Given the description of an element on the screen output the (x, y) to click on. 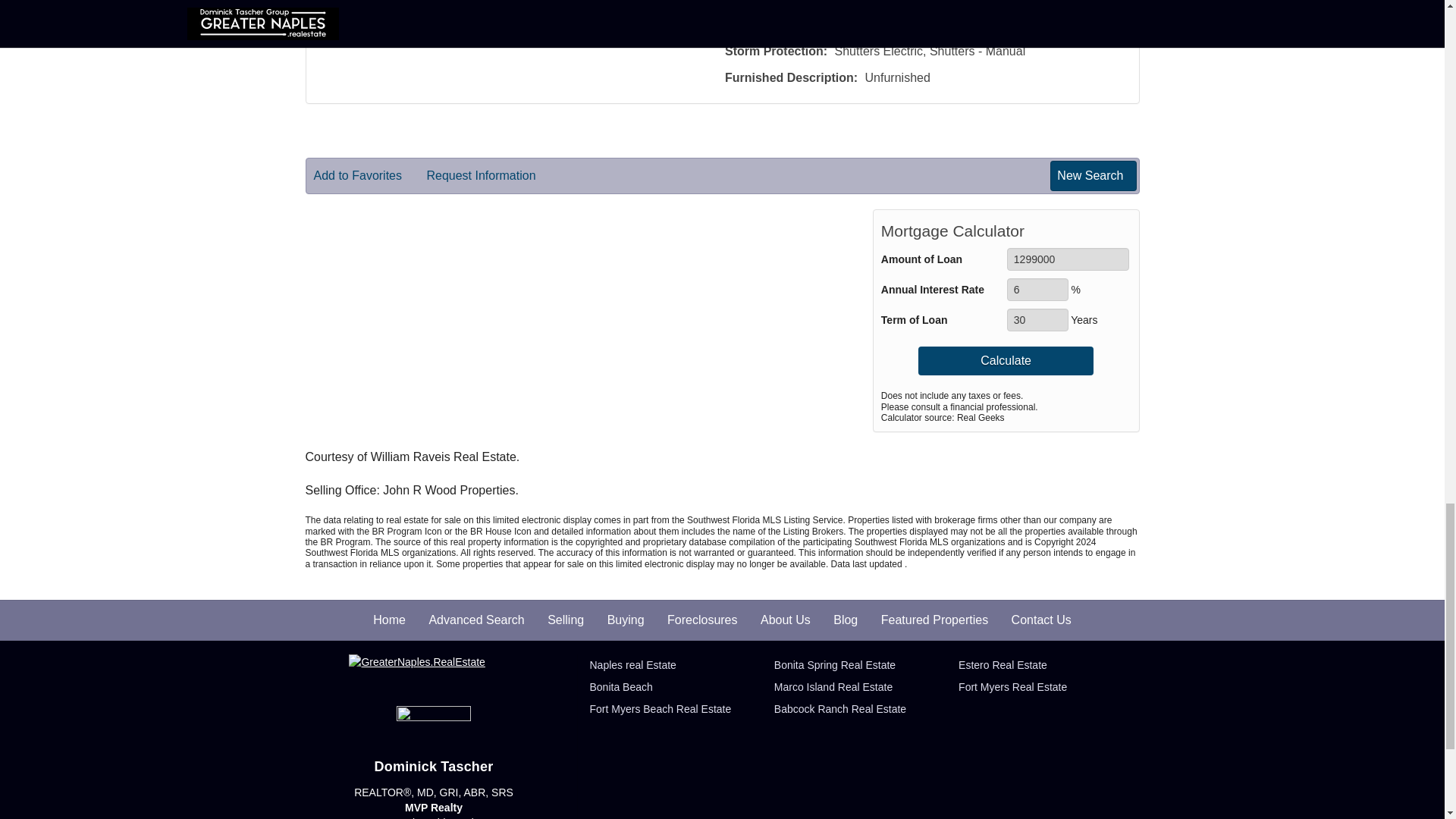
Home Page (433, 672)
30 (1037, 319)
1299000 (1068, 259)
6 (1037, 289)
